Given the description of an element on the screen output the (x, y) to click on. 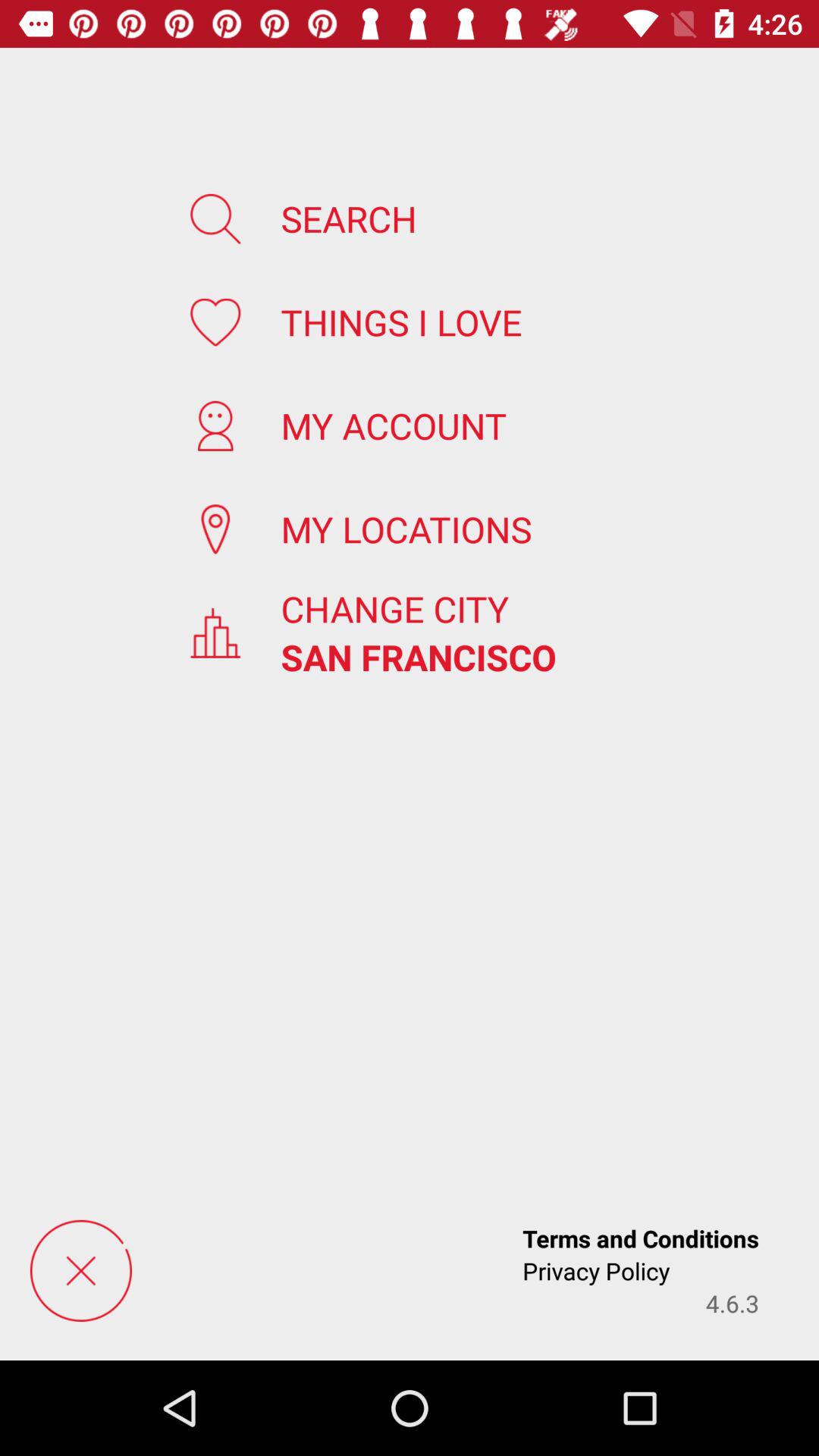
cancel load (80, 1270)
